Given the description of an element on the screen output the (x, y) to click on. 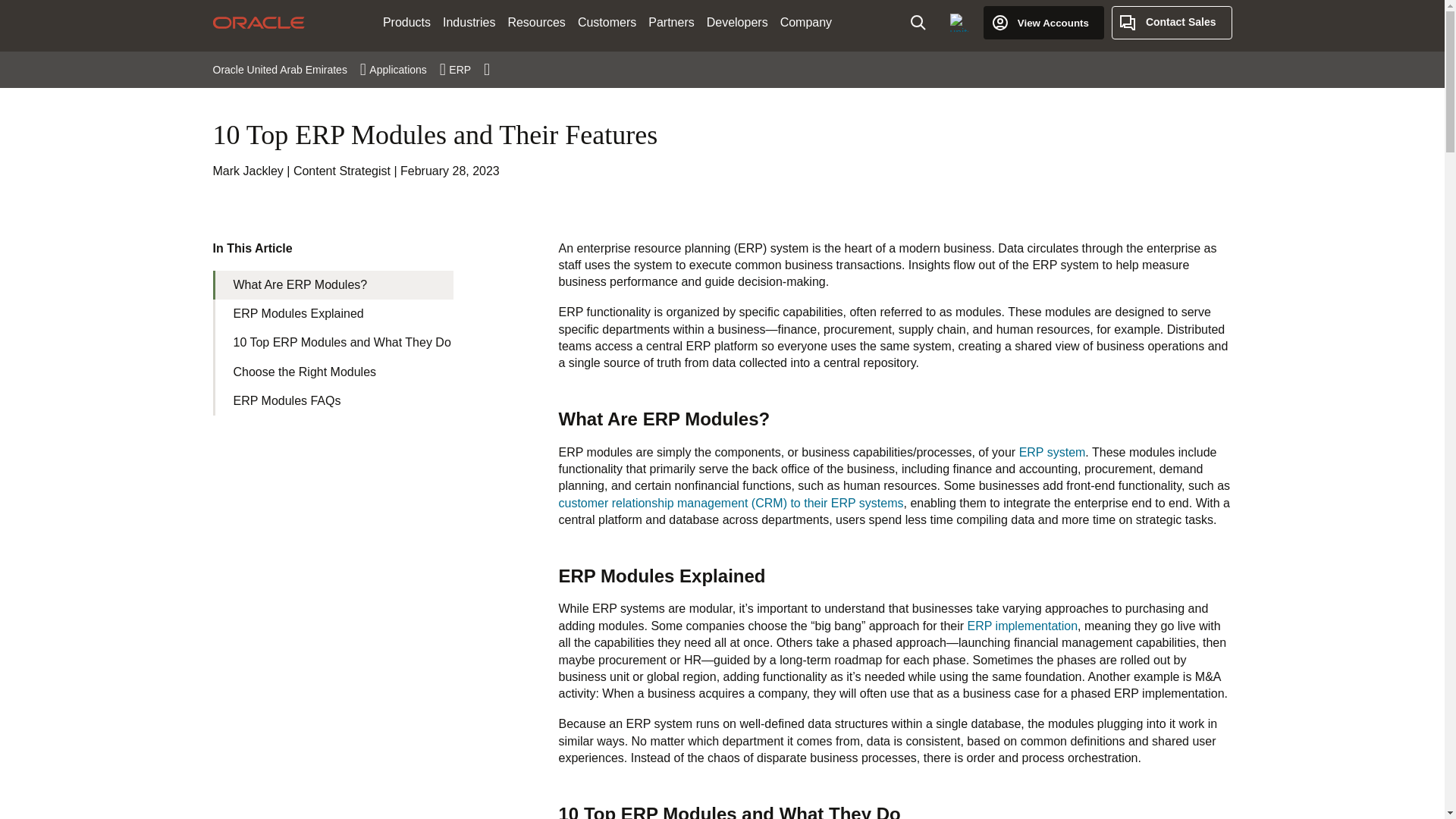
ERP system (1052, 451)
View Accounts (1043, 22)
Products (406, 22)
ERP Modules FAQs (332, 400)
Company (806, 22)
What Are ERP Modules? (332, 285)
ERP (468, 69)
Partners (671, 22)
Contact Sales (1171, 22)
10 Top ERP Modules and What They Do (332, 342)
